Given the description of an element on the screen output the (x, y) to click on. 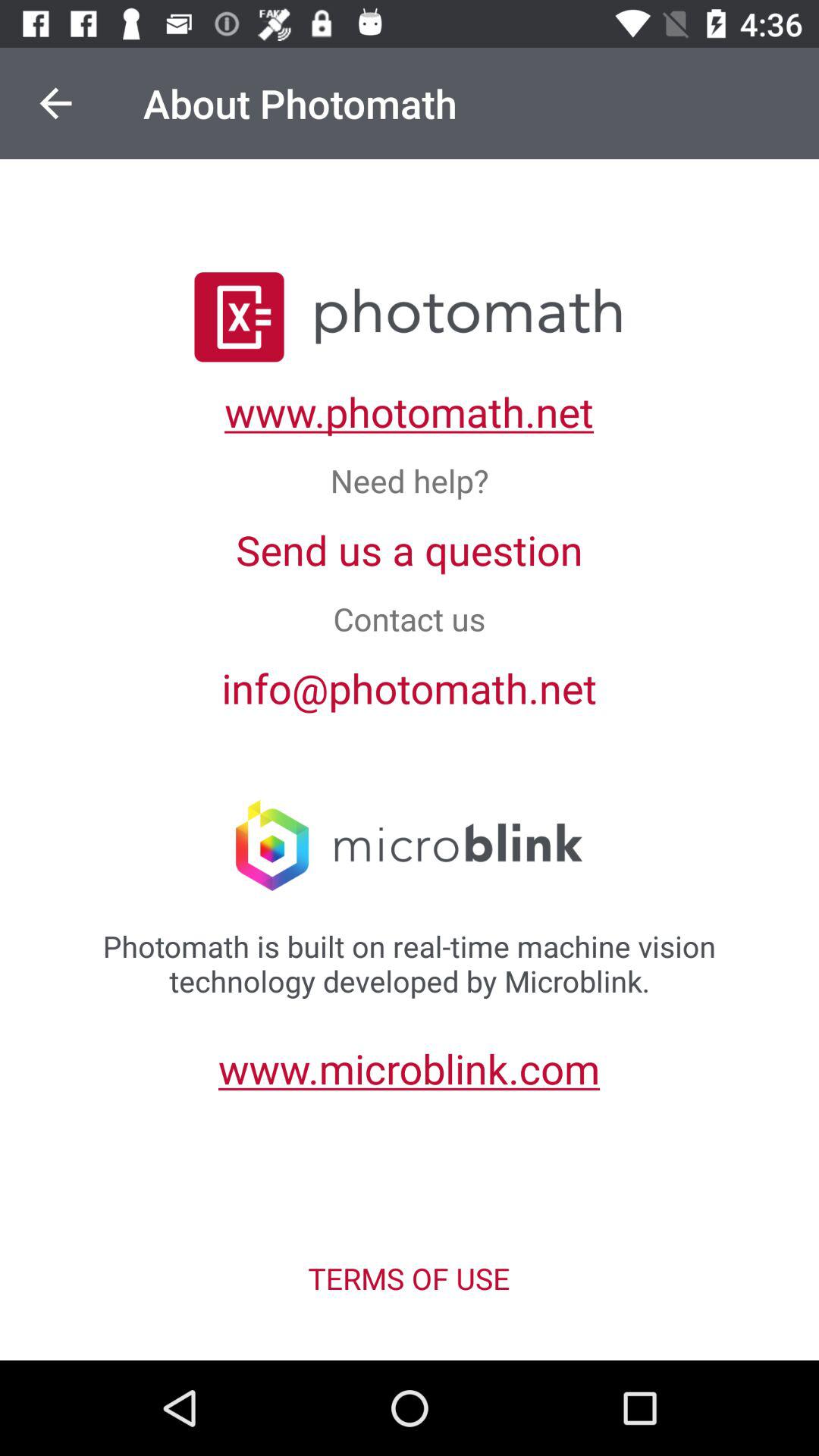
open item above the contact us icon (409, 549)
